Given the description of an element on the screen output the (x, y) to click on. 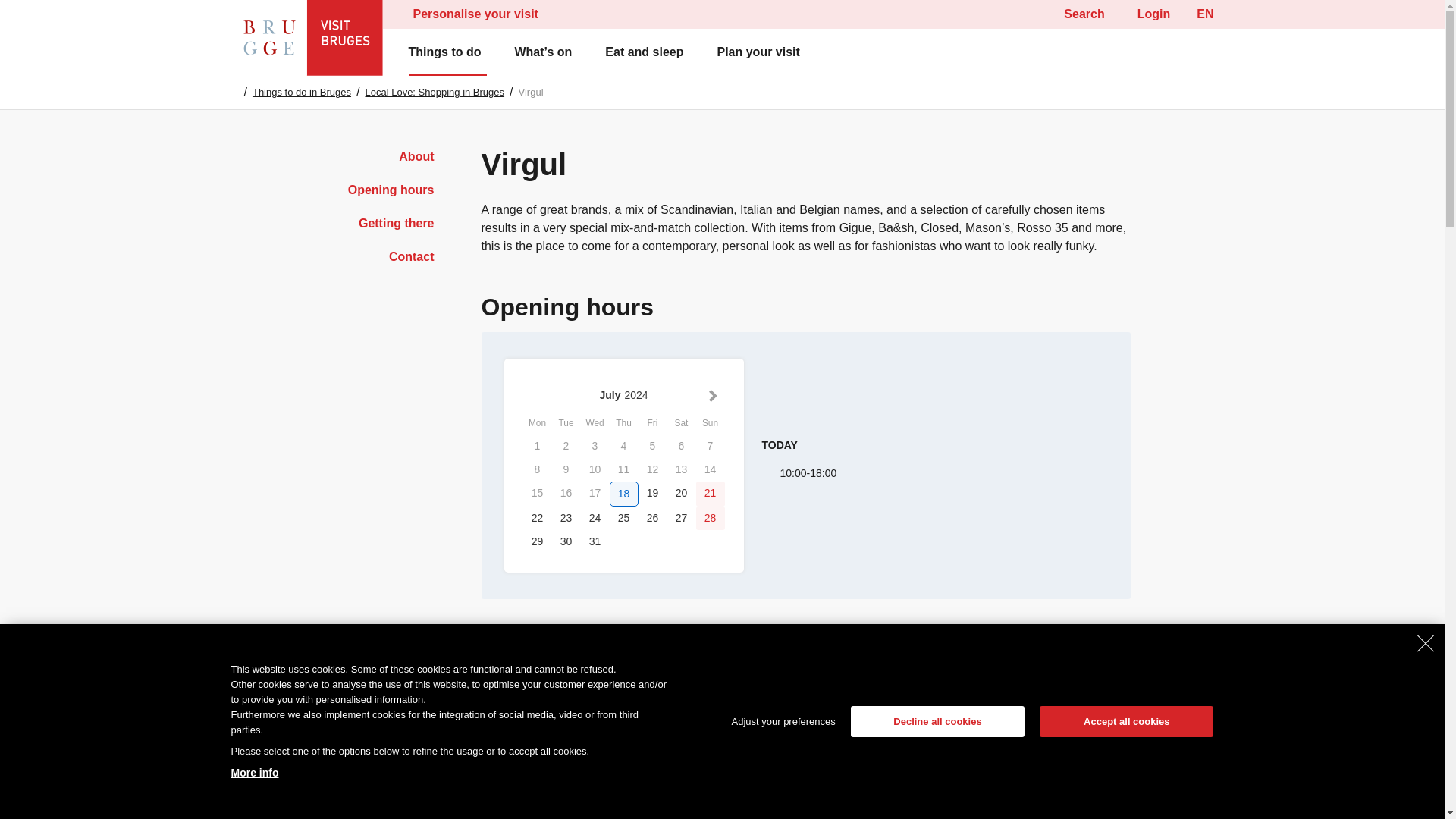
Monday (536, 423)
Login (1150, 14)
Zoom in (1109, 817)
Thursday (624, 423)
Friday (652, 423)
Skip to main content (722, 14)
Search (44, 17)
Saturday (680, 423)
Sunday (710, 423)
Things to do (446, 52)
Eat and sleep (646, 52)
EN (1204, 14)
Search (1074, 14)
Wednesday (595, 423)
Tuesday (565, 423)
